Given the description of an element on the screen output the (x, y) to click on. 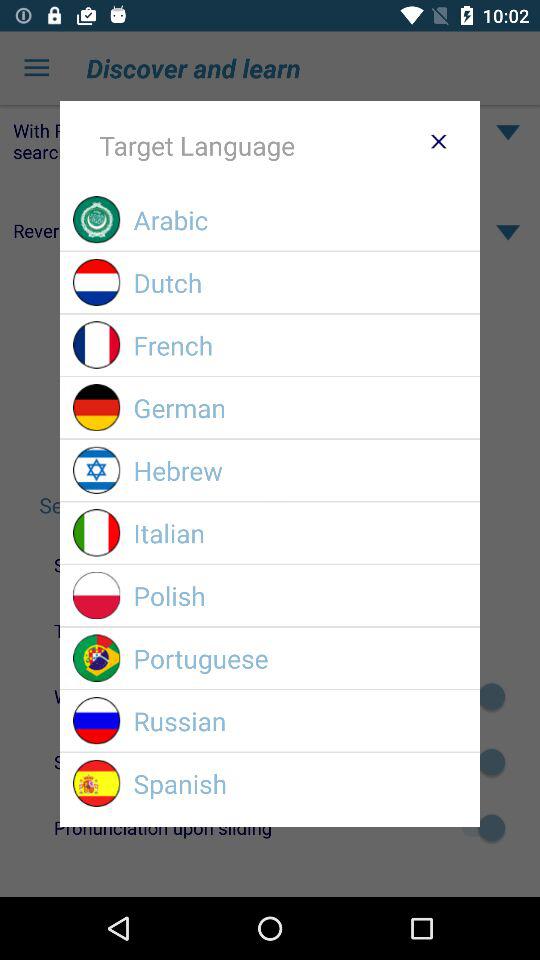
click the spanish (300, 783)
